Given the description of an element on the screen output the (x, y) to click on. 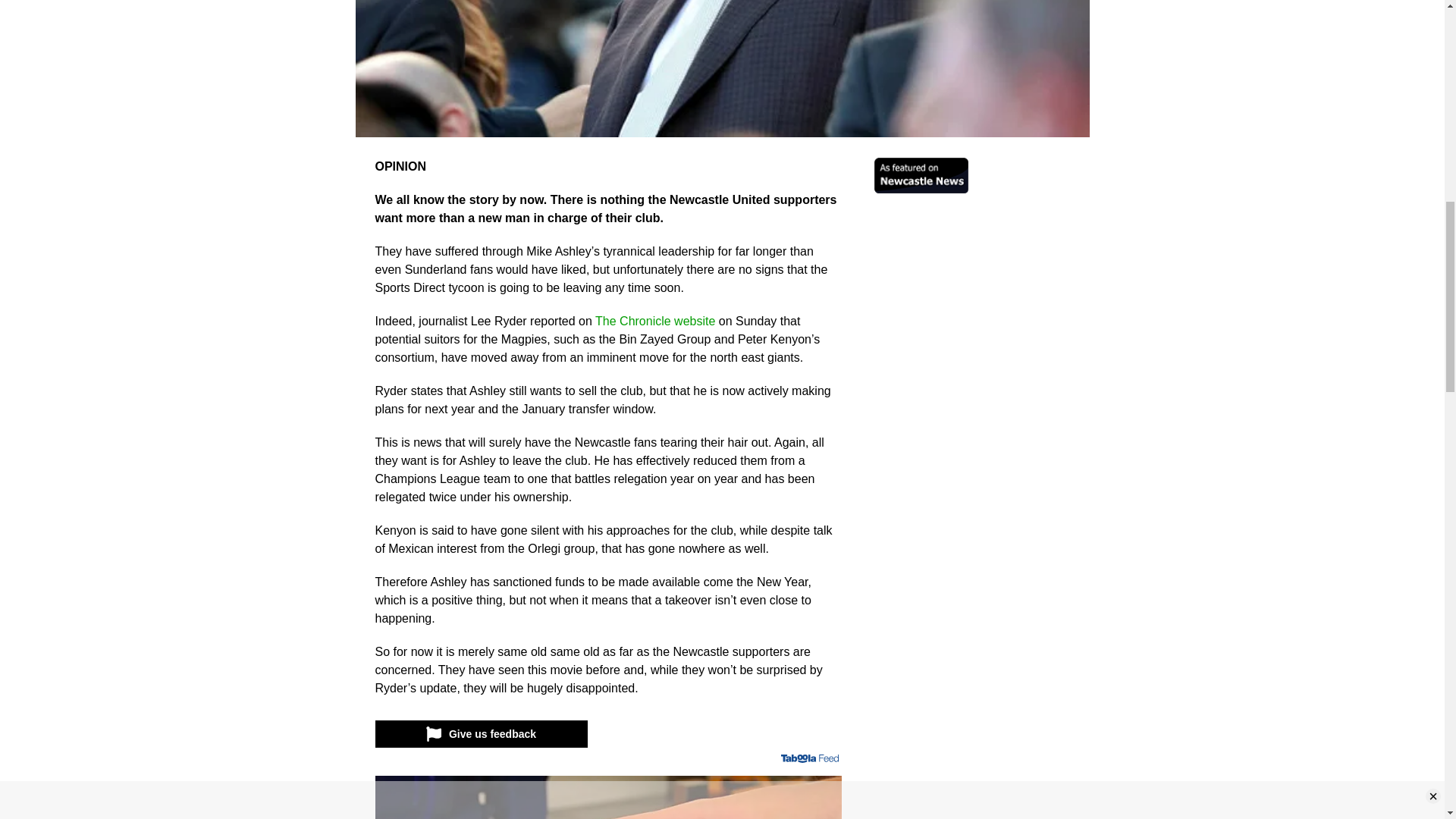
Give us feedback (480, 733)
Good to know: How to open a can without a can opener (609, 797)
The Chronicle website (654, 320)
